Given the description of an element on the screen output the (x, y) to click on. 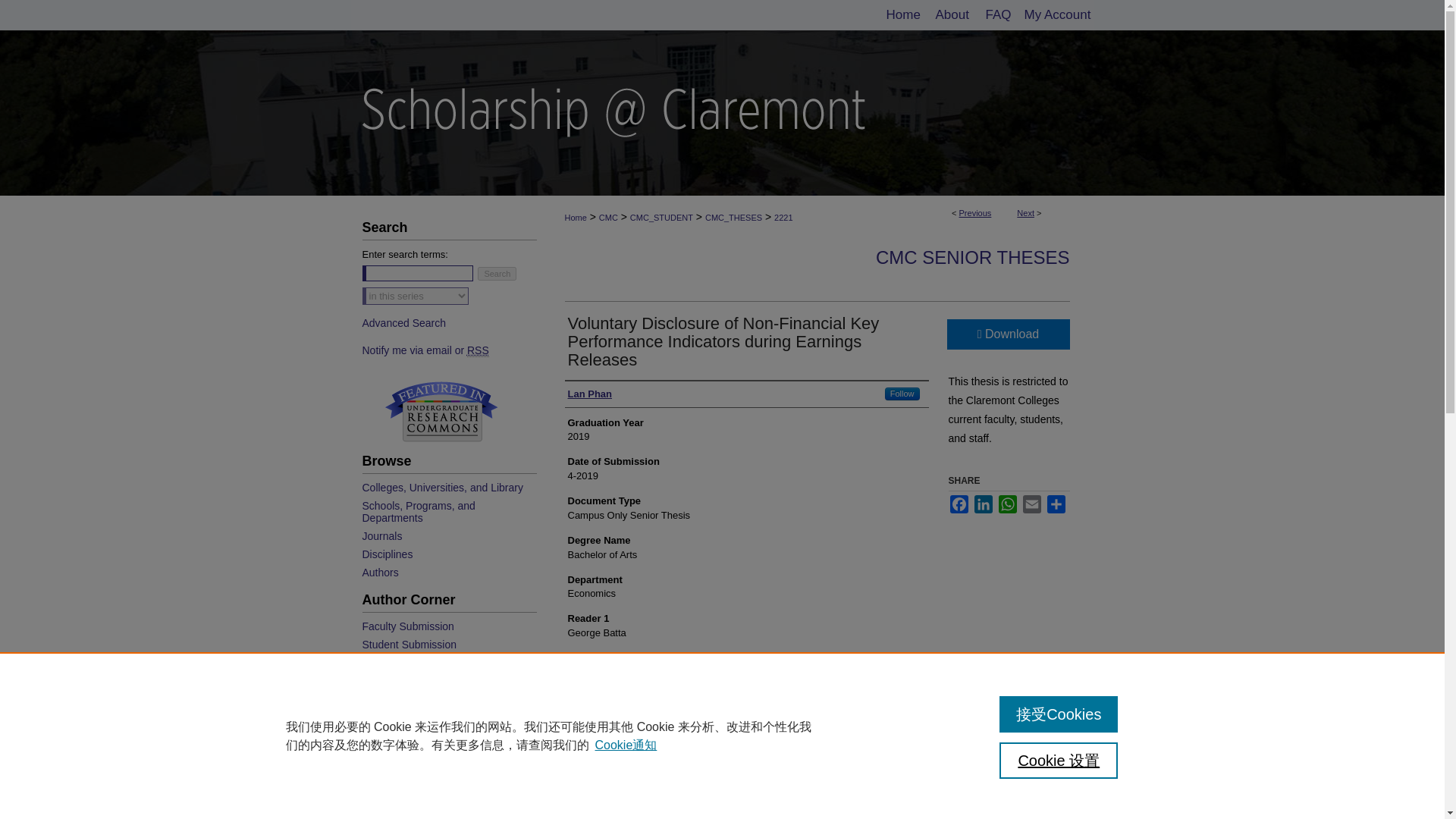
About (951, 15)
Undergraduate Research Commons (440, 411)
2221 (783, 216)
CMC SENIOR THESES (973, 257)
CMC (607, 216)
About (951, 15)
Next (1024, 212)
Search (496, 273)
Facebook (958, 504)
Home (901, 15)
Search (496, 273)
Browse by Schools, Programs, and Departments (447, 511)
Lan Phan (589, 394)
Journals (447, 535)
